Given the description of an element on the screen output the (x, y) to click on. 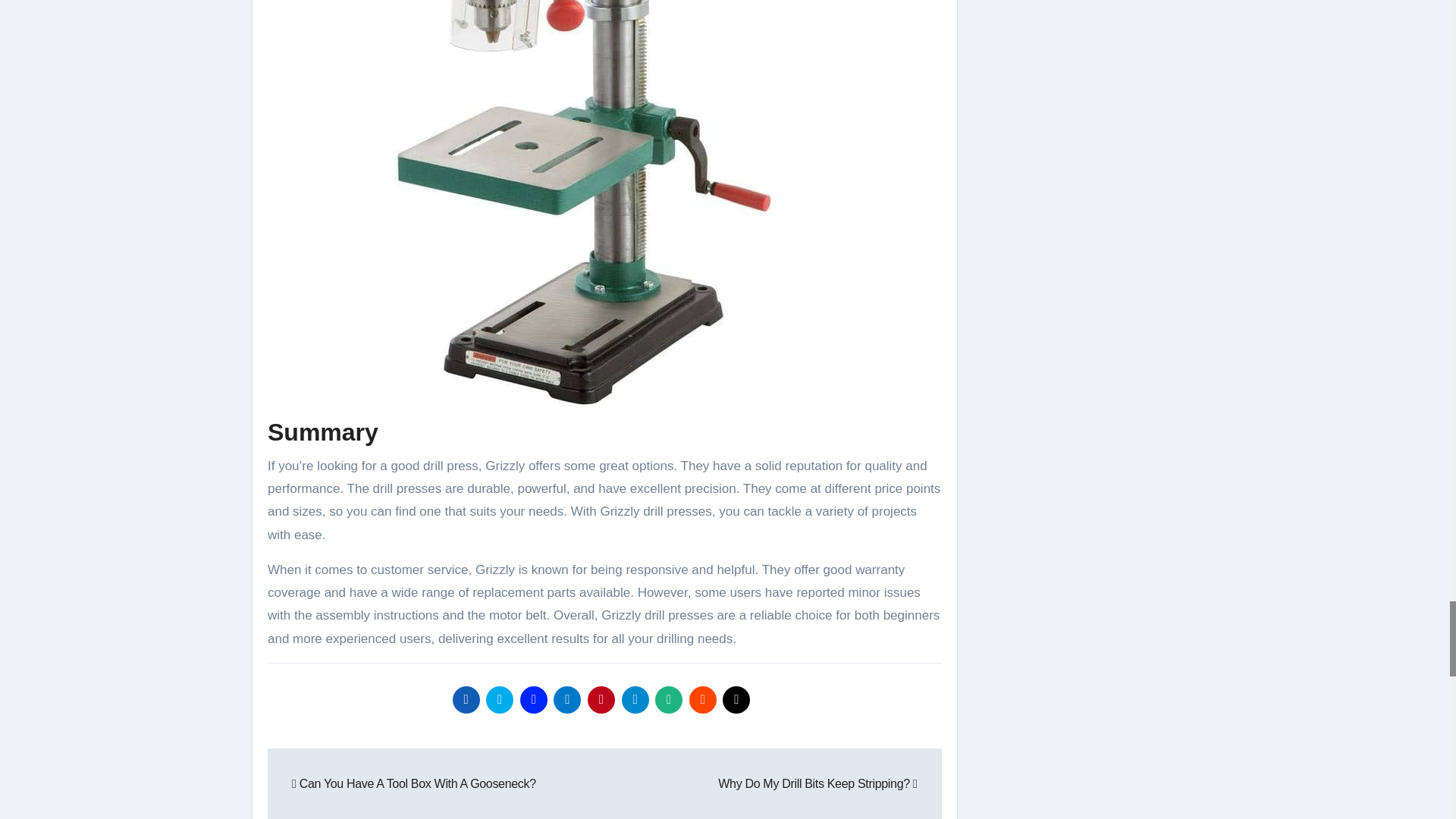
Can You Have A Tool Box With A Gooseneck? (413, 783)
Why Do My Drill Bits Keep Stripping? (817, 783)
